Given the description of an element on the screen output the (x, y) to click on. 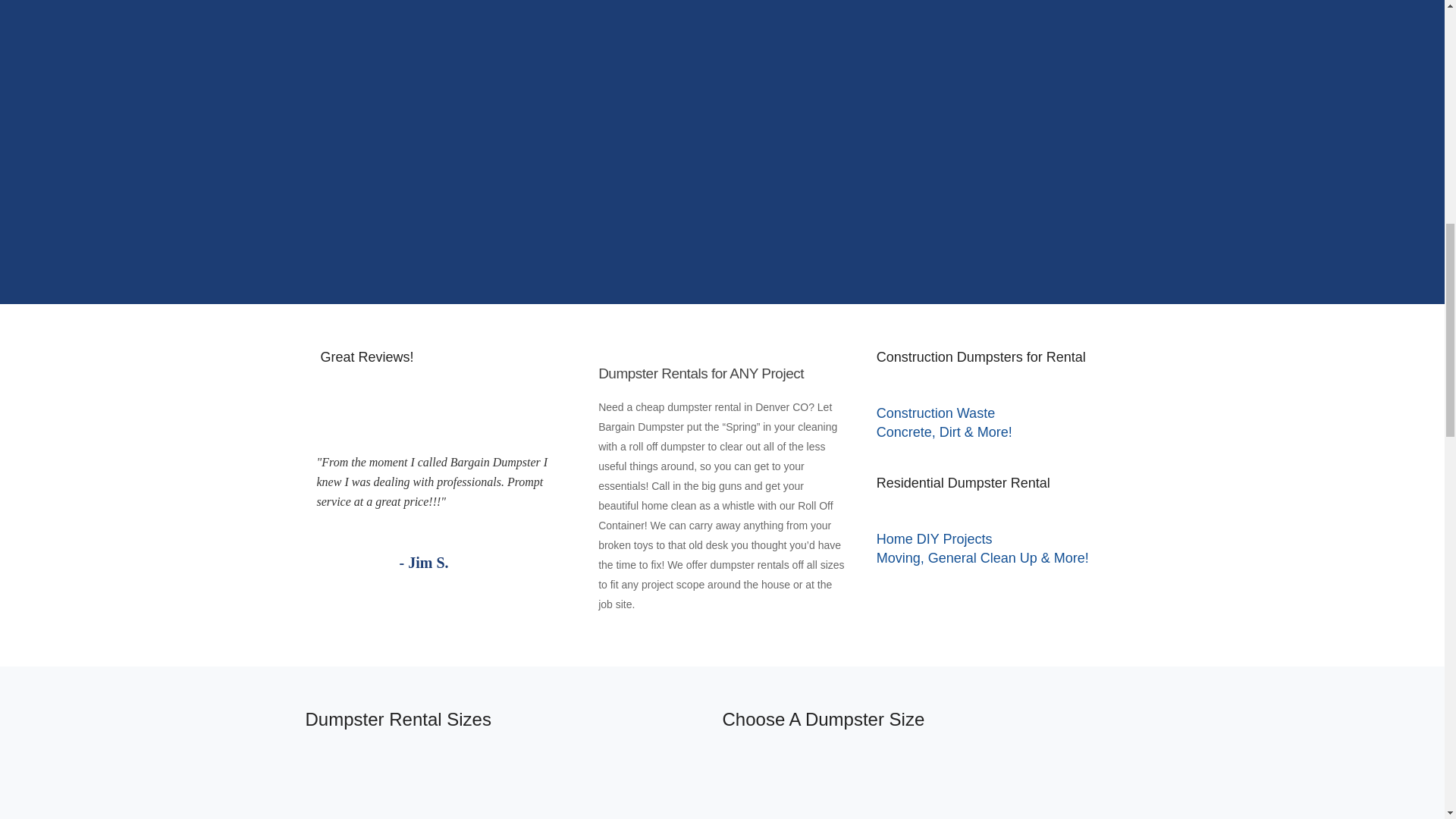
Dumpster-Size.png (930, 794)
